Given the description of an element on the screen output the (x, y) to click on. 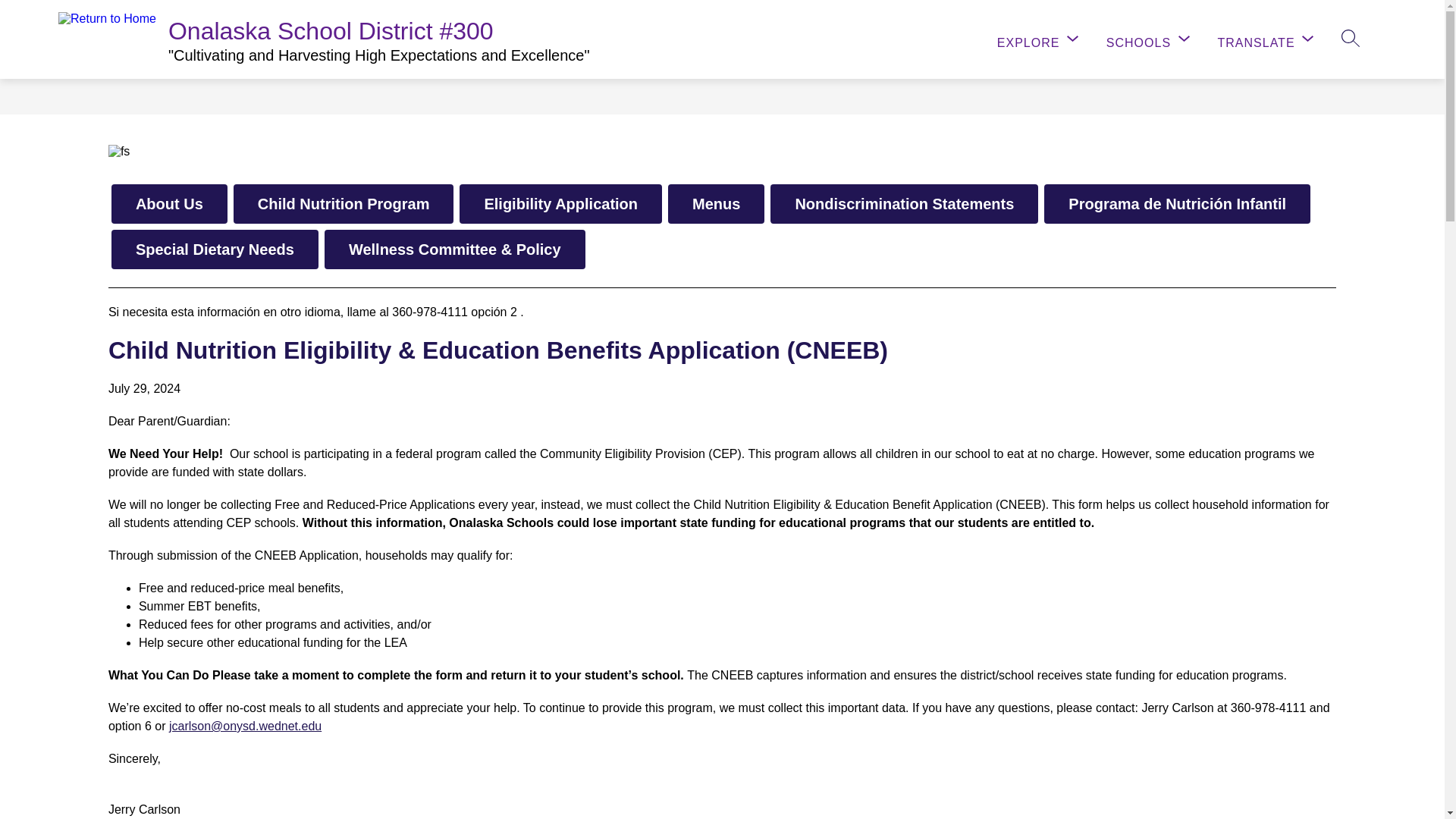
SCHOOLS (1149, 40)
DEPARTMENTS (295, 39)
TRANSLATE (1267, 40)
EXPLORE (1039, 40)
OUR DISTRICT (146, 39)
